Given the description of an element on the screen output the (x, y) to click on. 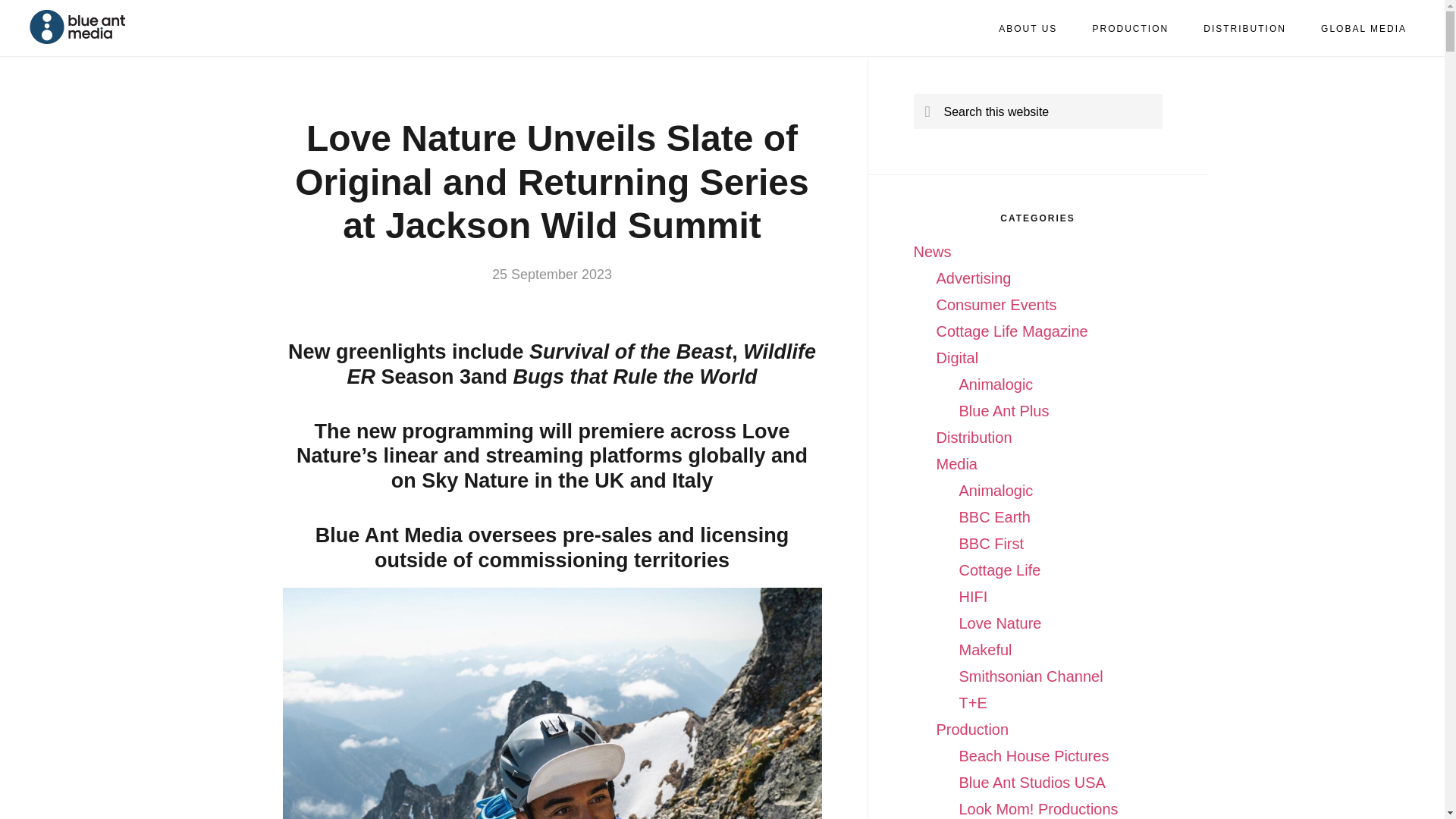
Consumer Events (996, 304)
Cottage Life Magazine (1011, 330)
DISTRIBUTION (1244, 28)
BLUE ANT MEDIA (98, 26)
Blue Ant Plus (1003, 410)
News (931, 251)
GLOBAL MEDIA (1364, 28)
Digital (957, 357)
